Given the description of an element on the screen output the (x, y) to click on. 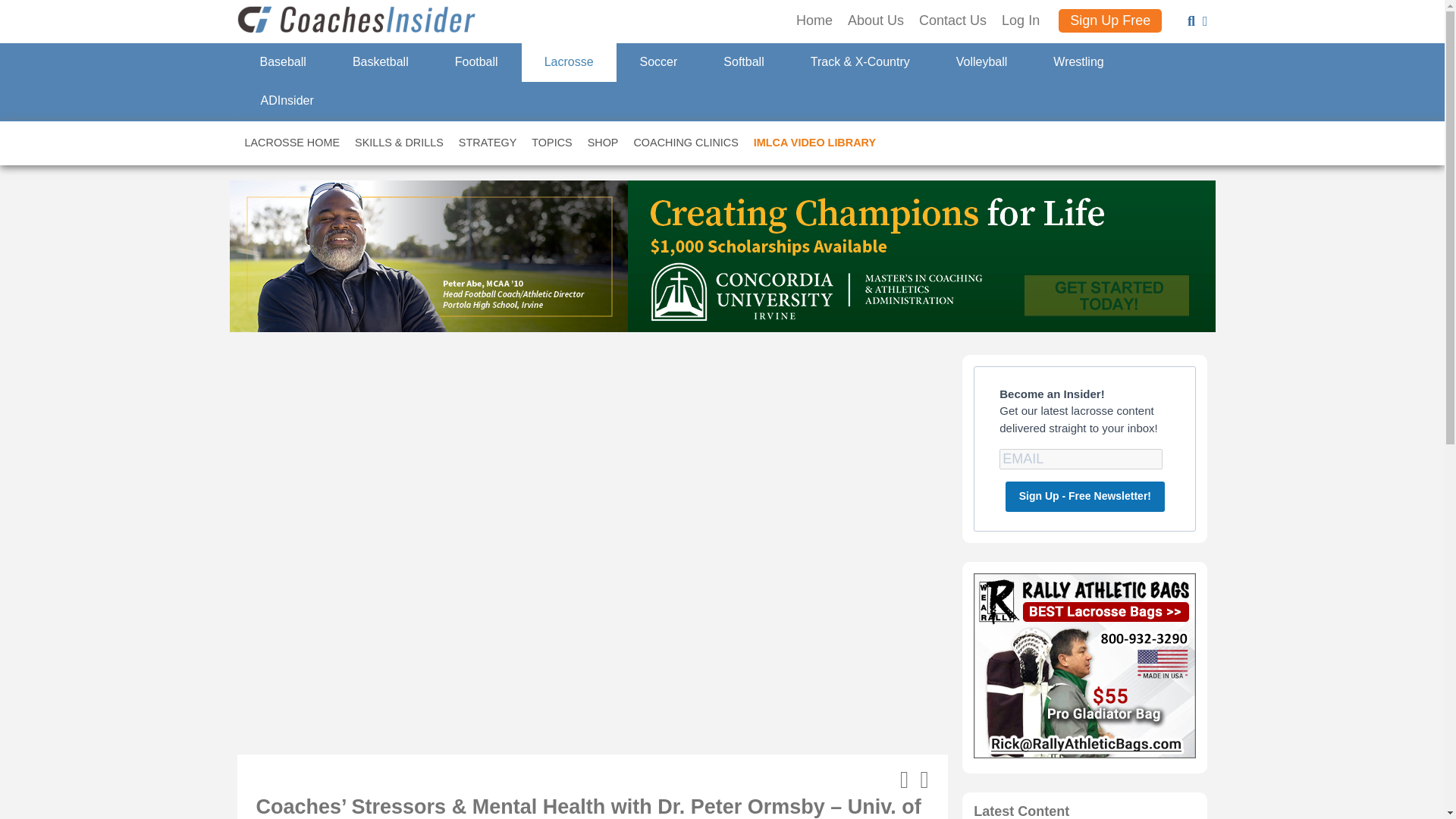
ADInsider (285, 100)
Contact Us (952, 21)
Basketball (379, 62)
COACHING CLINICS (685, 142)
SHOP (602, 142)
Lacrosse (568, 62)
STRATEGY (487, 142)
Football (475, 62)
Volleyball (981, 62)
TOPICS (551, 142)
